Given the description of an element on the screen output the (x, y) to click on. 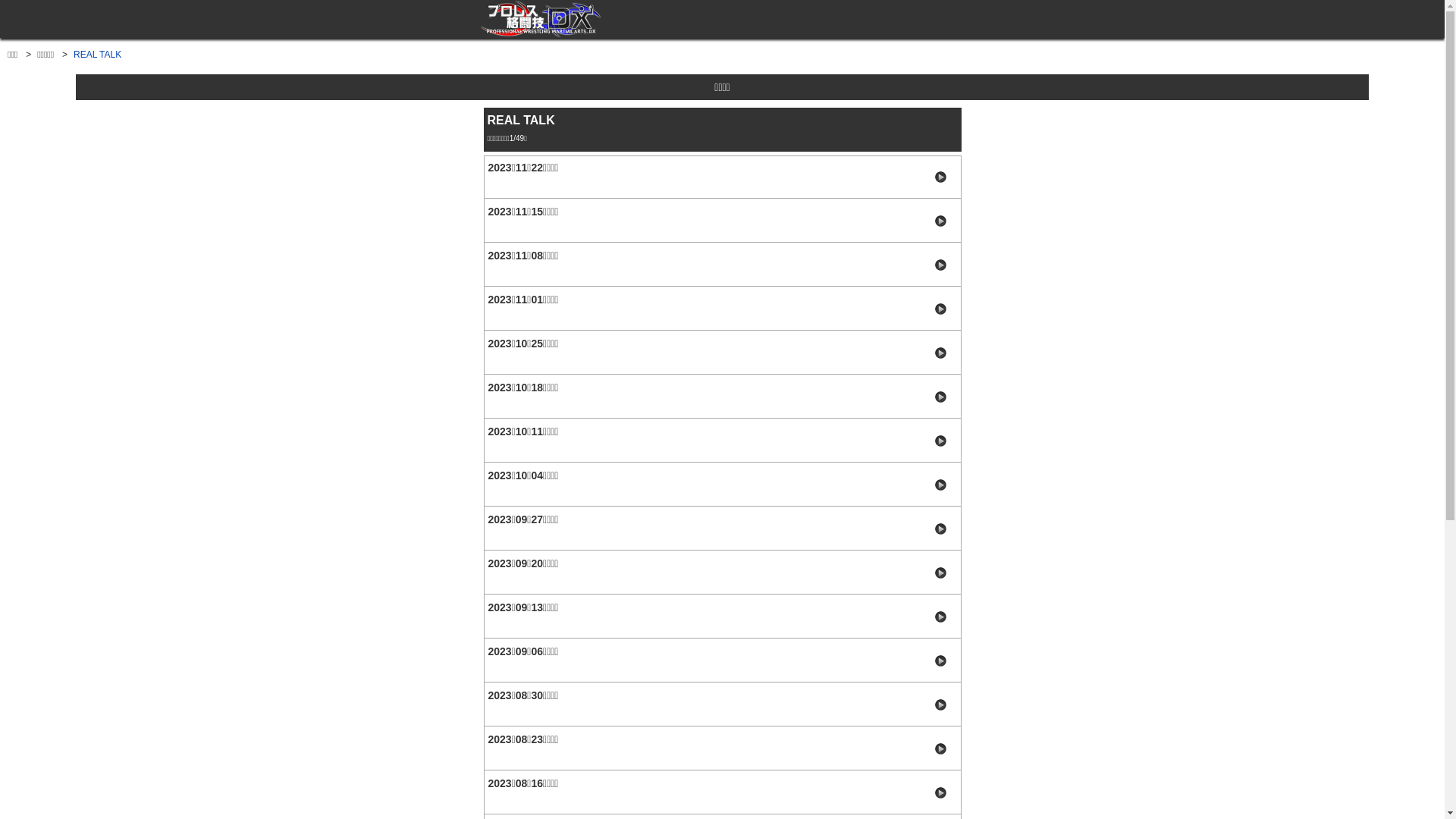
REAL TALK Element type: text (97, 54)
